Given the description of an element on the screen output the (x, y) to click on. 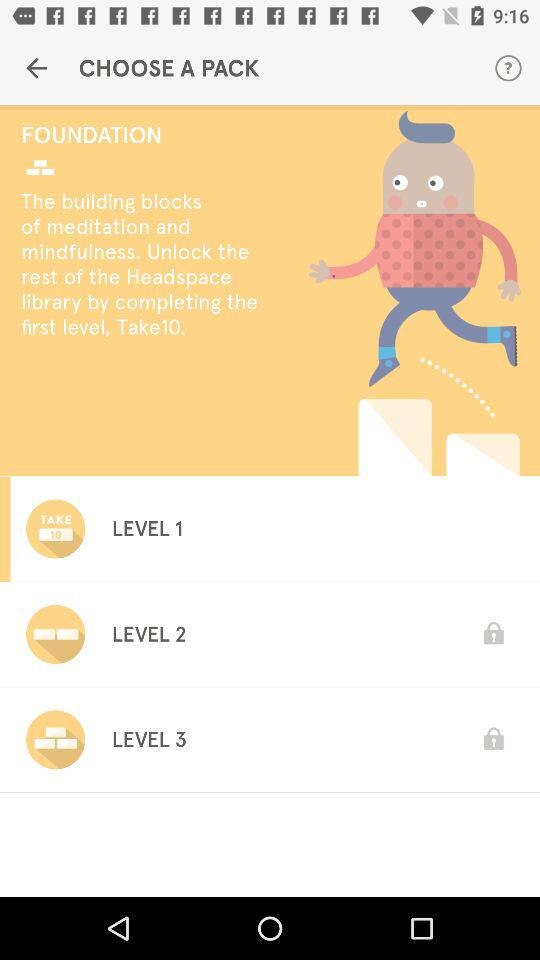
open icon next to the choose a pack item (36, 68)
